Given the description of an element on the screen output the (x, y) to click on. 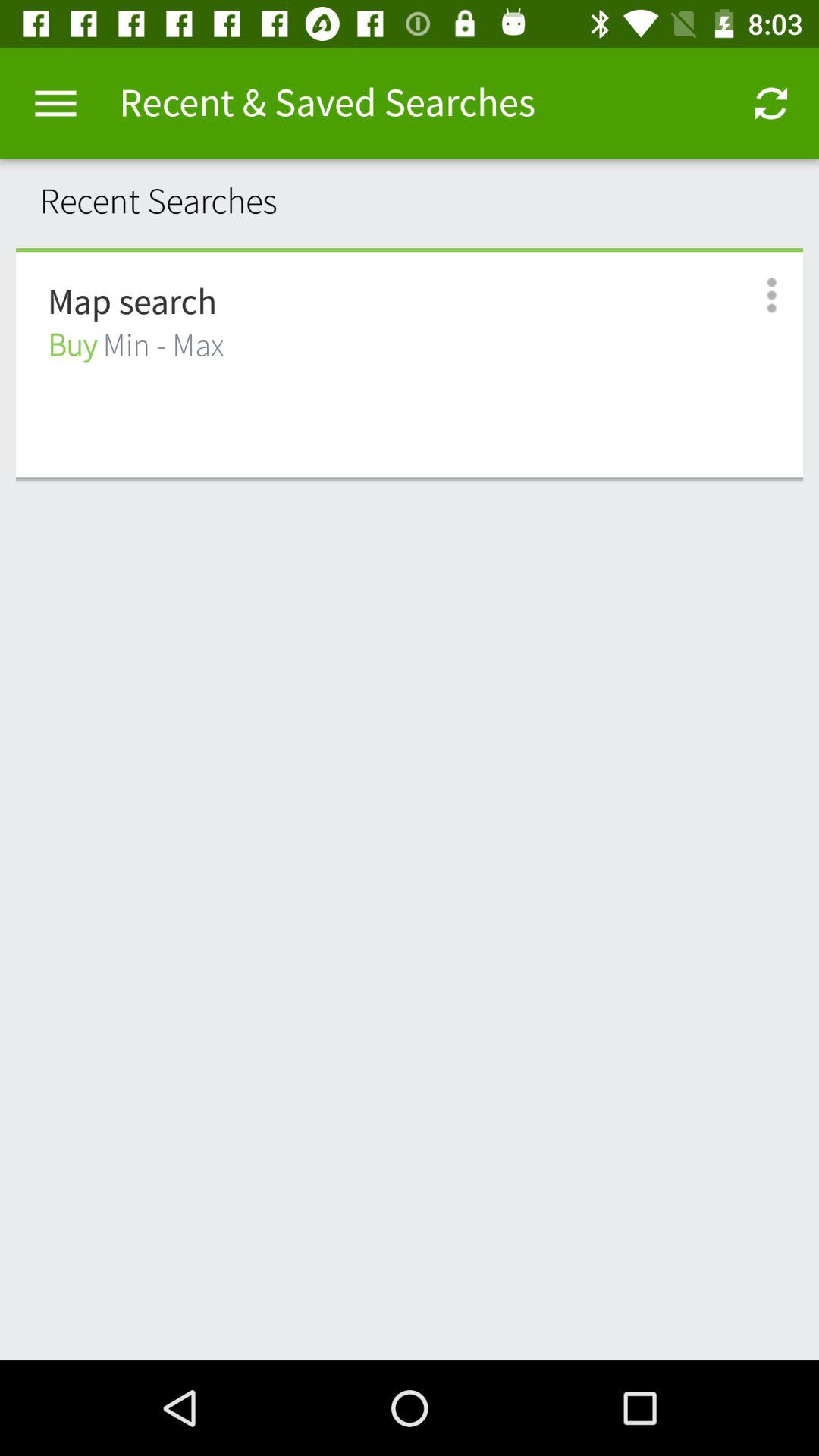
choose icon to the right of the buy min - max (755, 295)
